Given the description of an element on the screen output the (x, y) to click on. 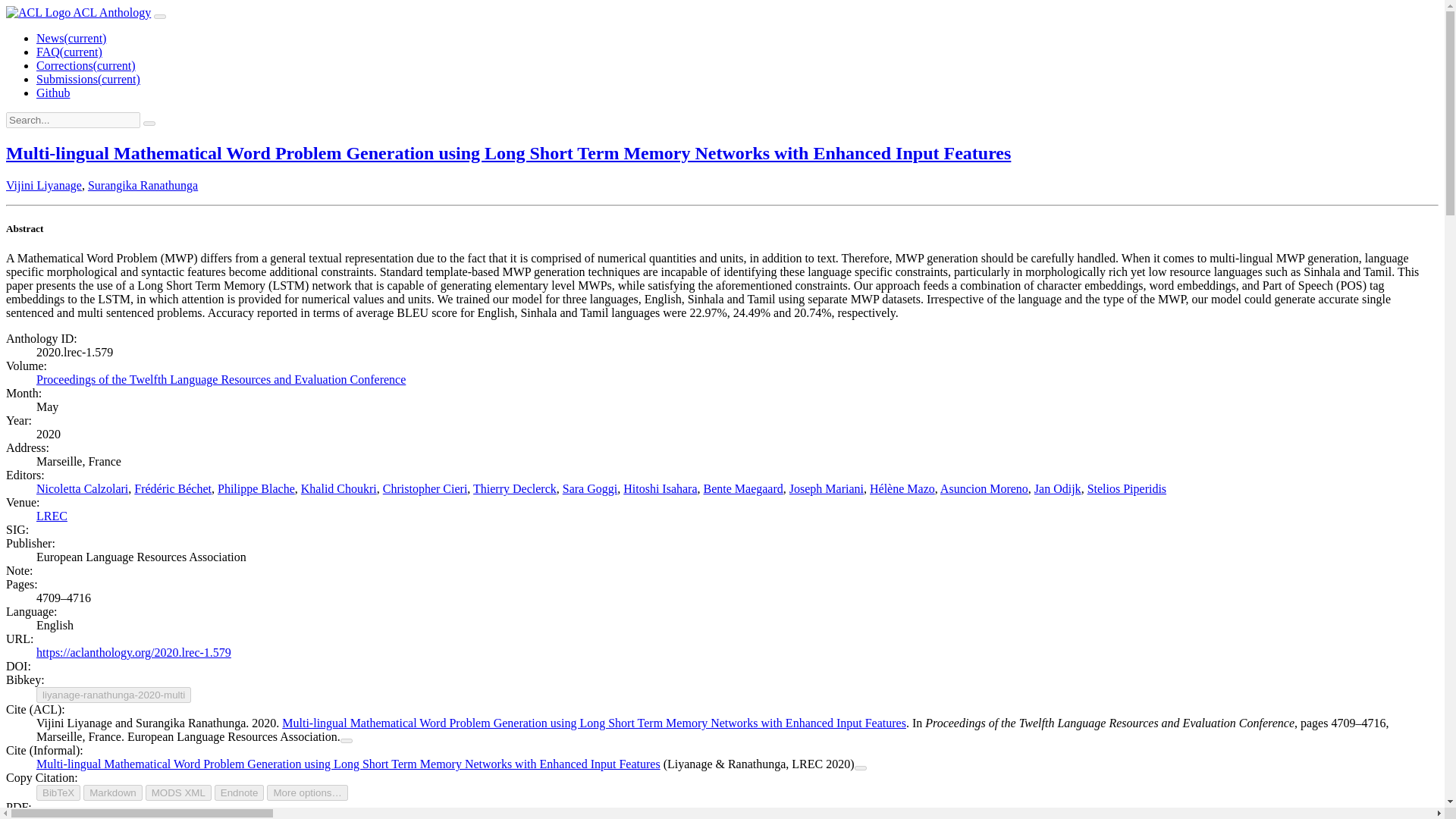
Sara Goggi (589, 488)
liyanage-ranathunga-2020-multi (113, 694)
Khalid Choukri (339, 488)
ACL Anthology (78, 11)
Joseph Mariani (826, 488)
Jan Odijk (1057, 488)
BibTeX (58, 792)
Vijini Liyanage (43, 185)
Markdown (111, 792)
